Given the description of an element on the screen output the (x, y) to click on. 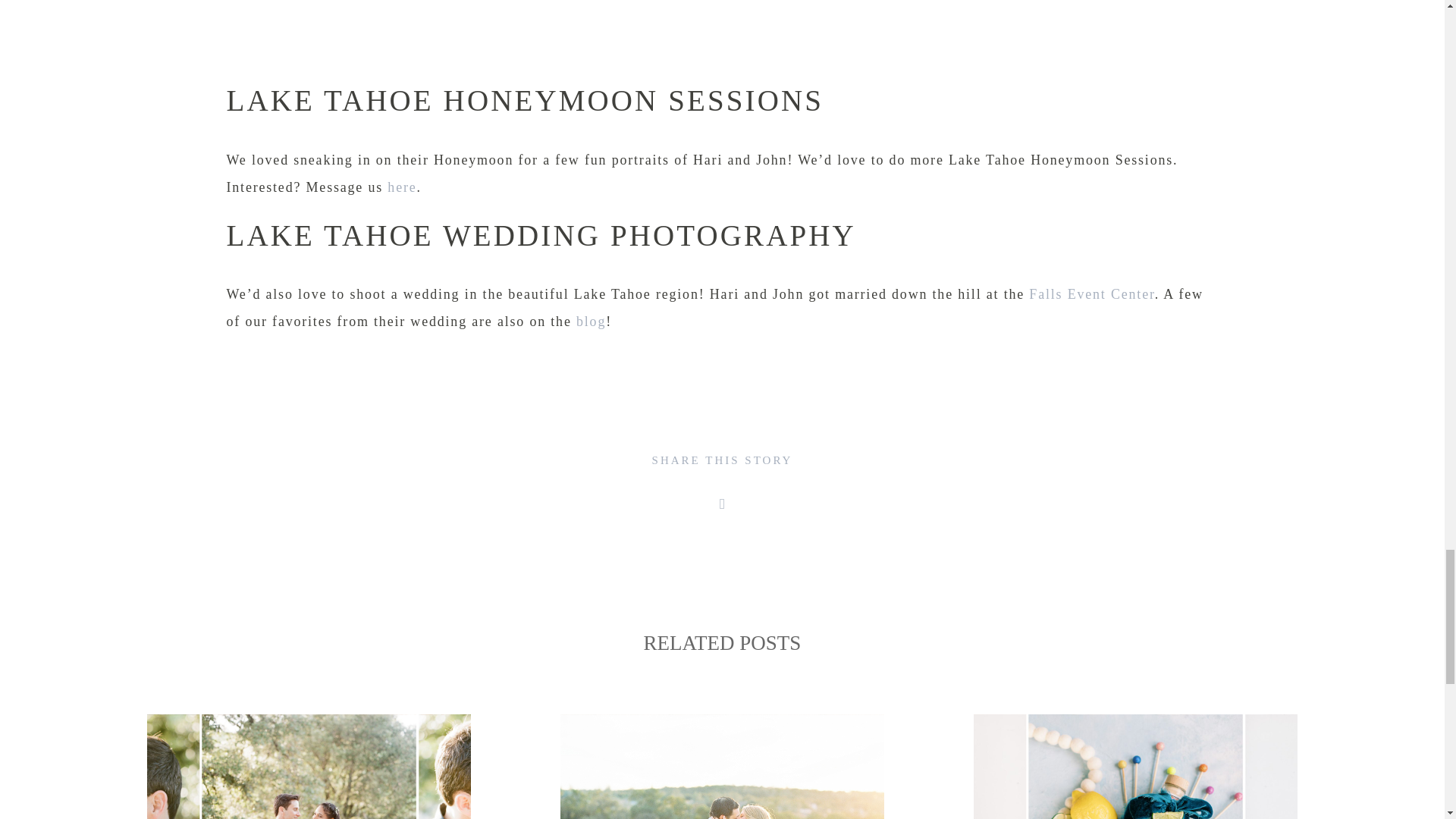
blog (590, 321)
here (401, 186)
Falls Event Center (1091, 294)
